Given the description of an element on the screen output the (x, y) to click on. 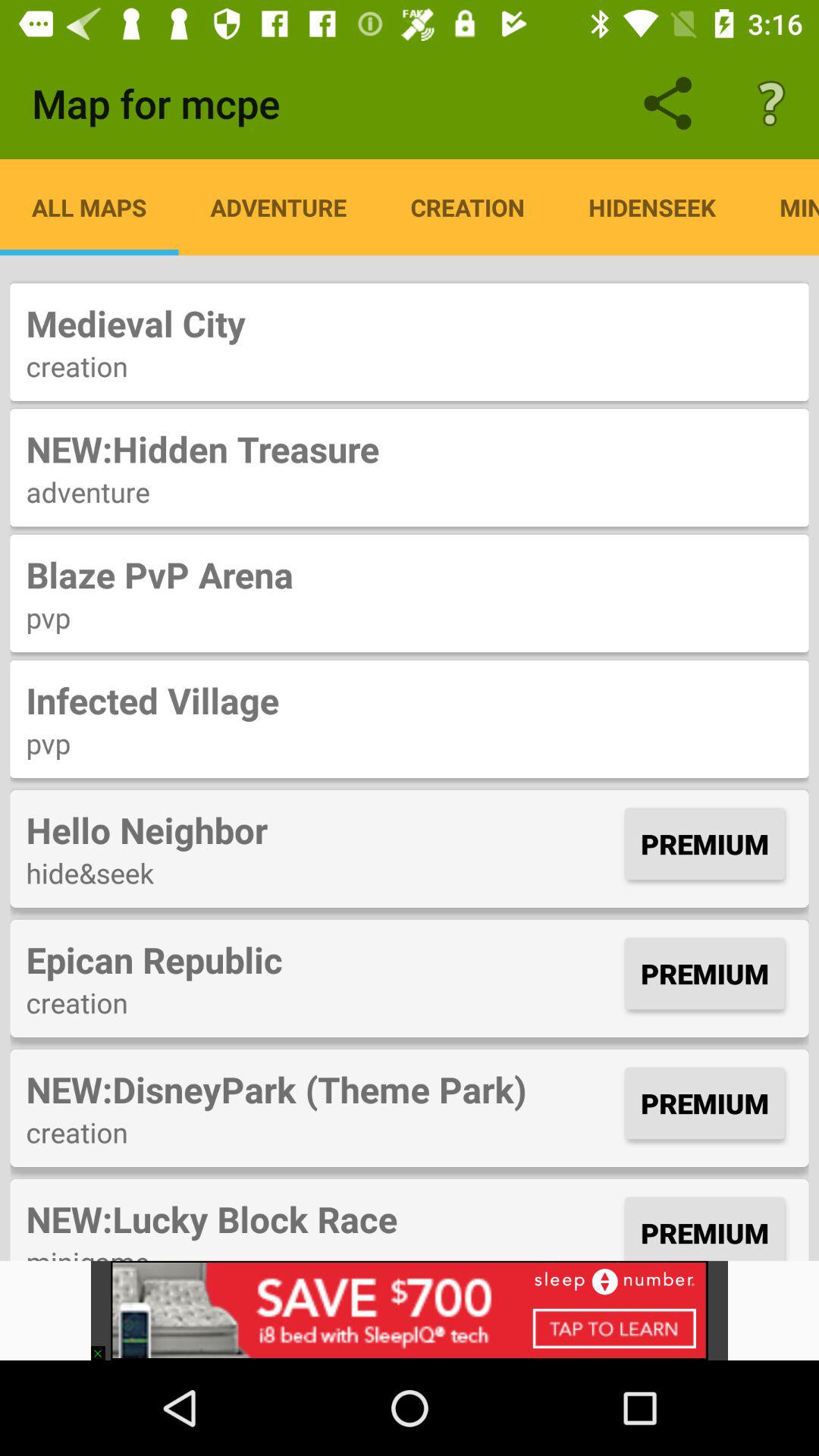
turn off item above the medieval city icon (651, 207)
